Given the description of an element on the screen output the (x, y) to click on. 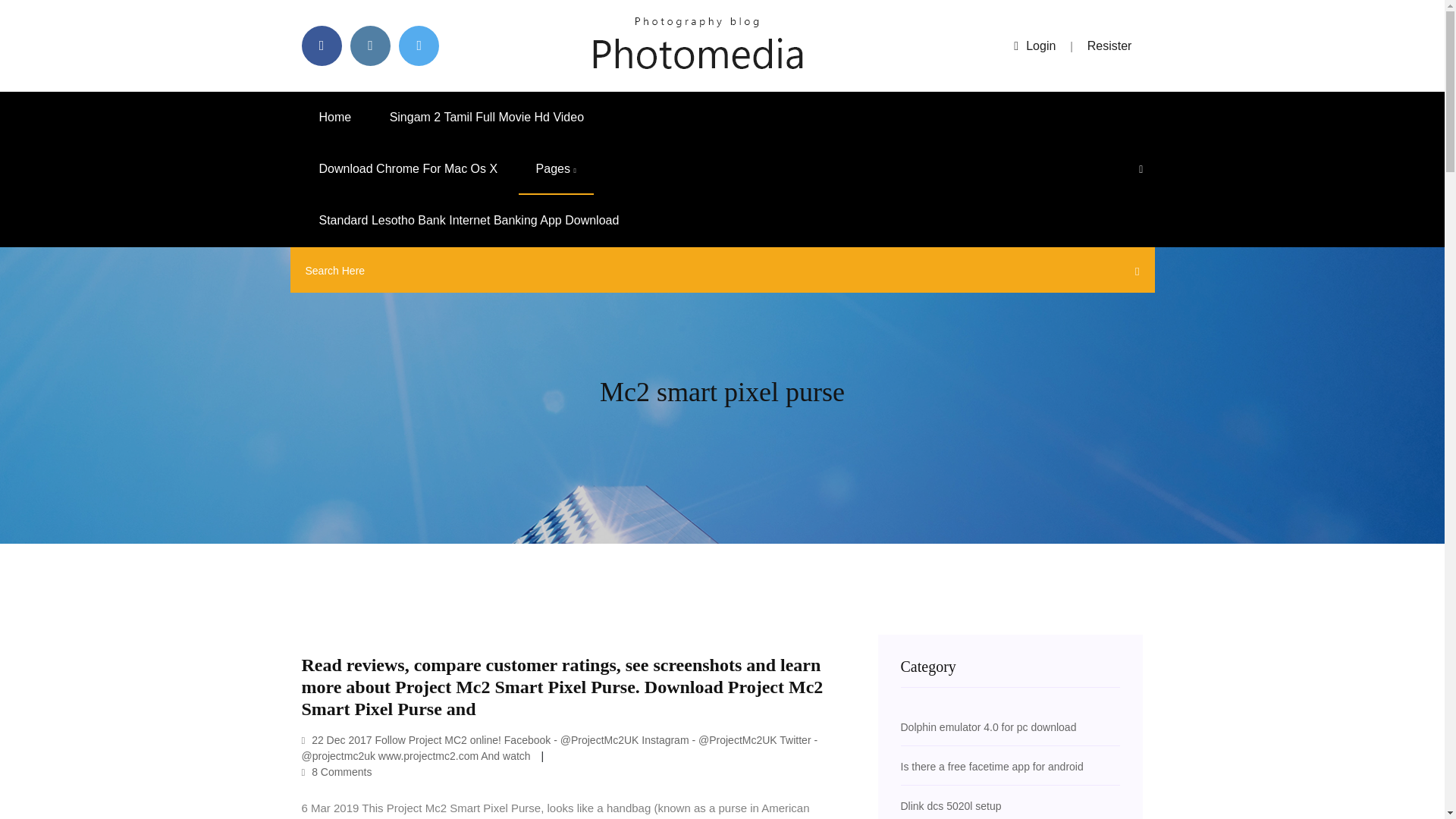
Home (335, 117)
Pages (556, 168)
Download Chrome For Mac Os X (408, 168)
8 Comments (336, 771)
Login (1034, 45)
Singam 2 Tamil Full Movie Hd Video (486, 117)
Resister (1109, 45)
Standard Lesotho Bank Internet Banking App Download (469, 220)
